Given the description of an element on the screen output the (x, y) to click on. 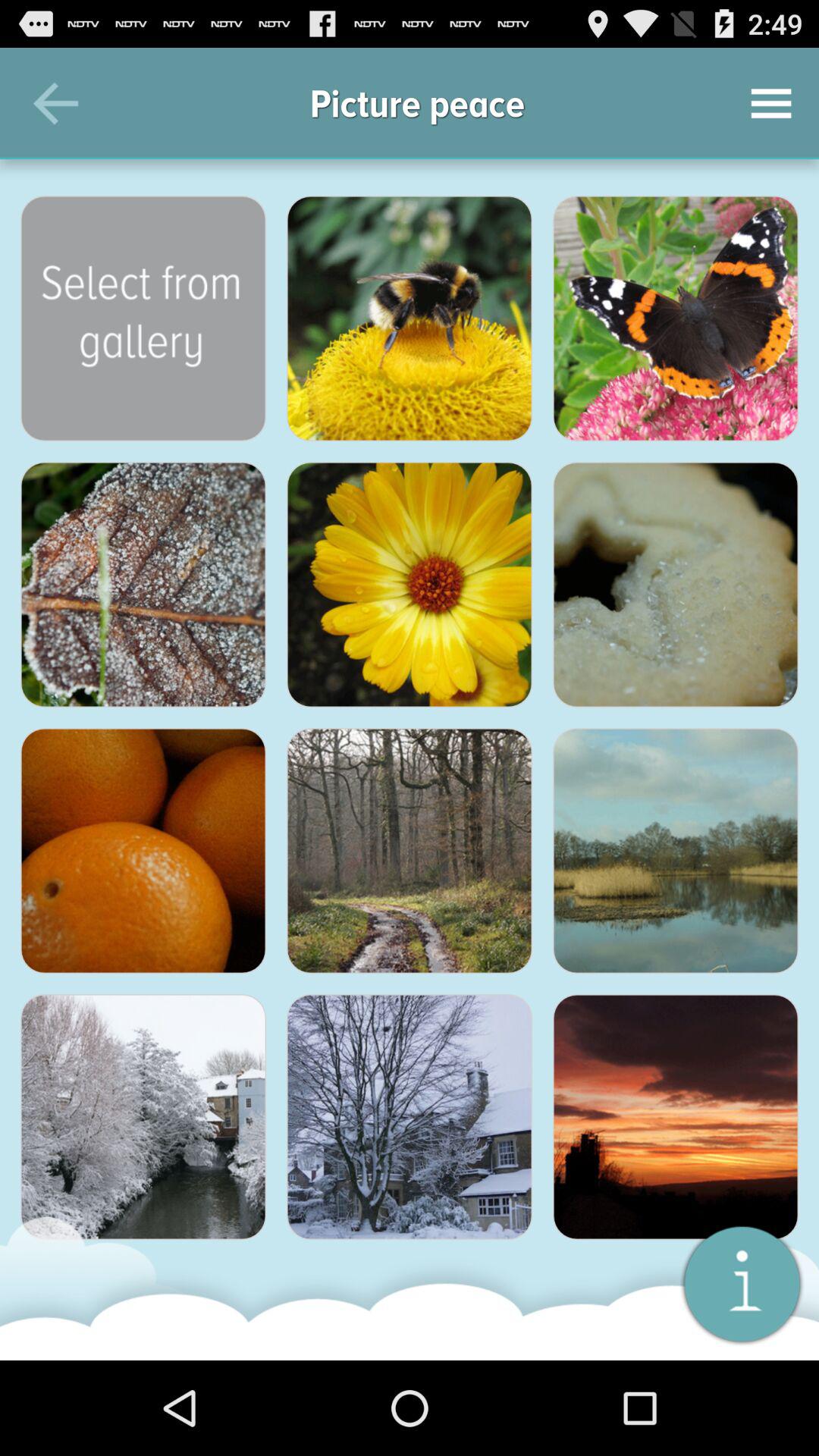
go to choosing picture (675, 584)
